Given the description of an element on the screen output the (x, y) to click on. 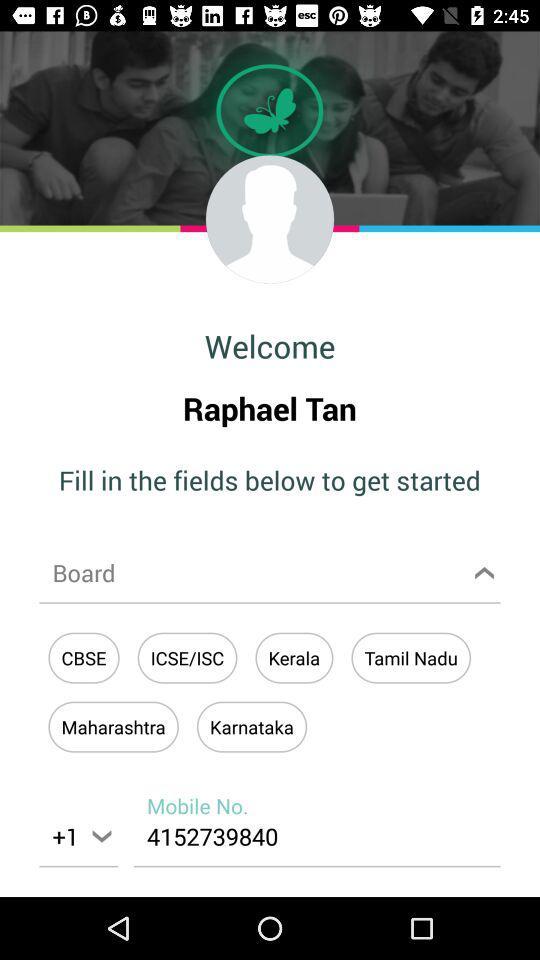
edit profile picture (269, 219)
